Given the description of an element on the screen output the (x, y) to click on. 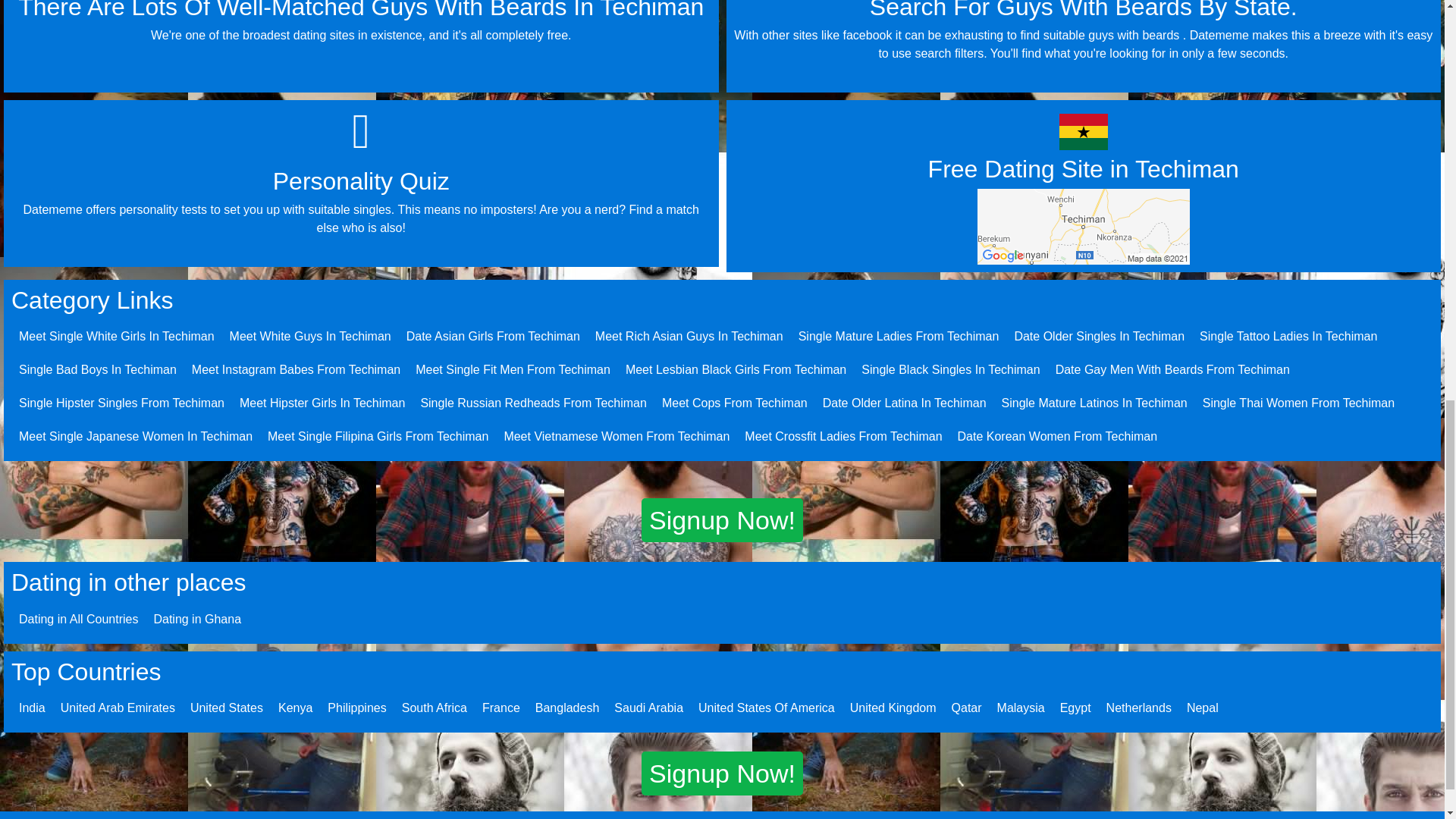
Date Asian Girls From Techiman (492, 336)
Meet White Guys In Techiman (310, 336)
Meet Single White Girls In Techiman (116, 336)
Meet Rich Asian Guys In Techiman (689, 336)
